Given the description of an element on the screen output the (x, y) to click on. 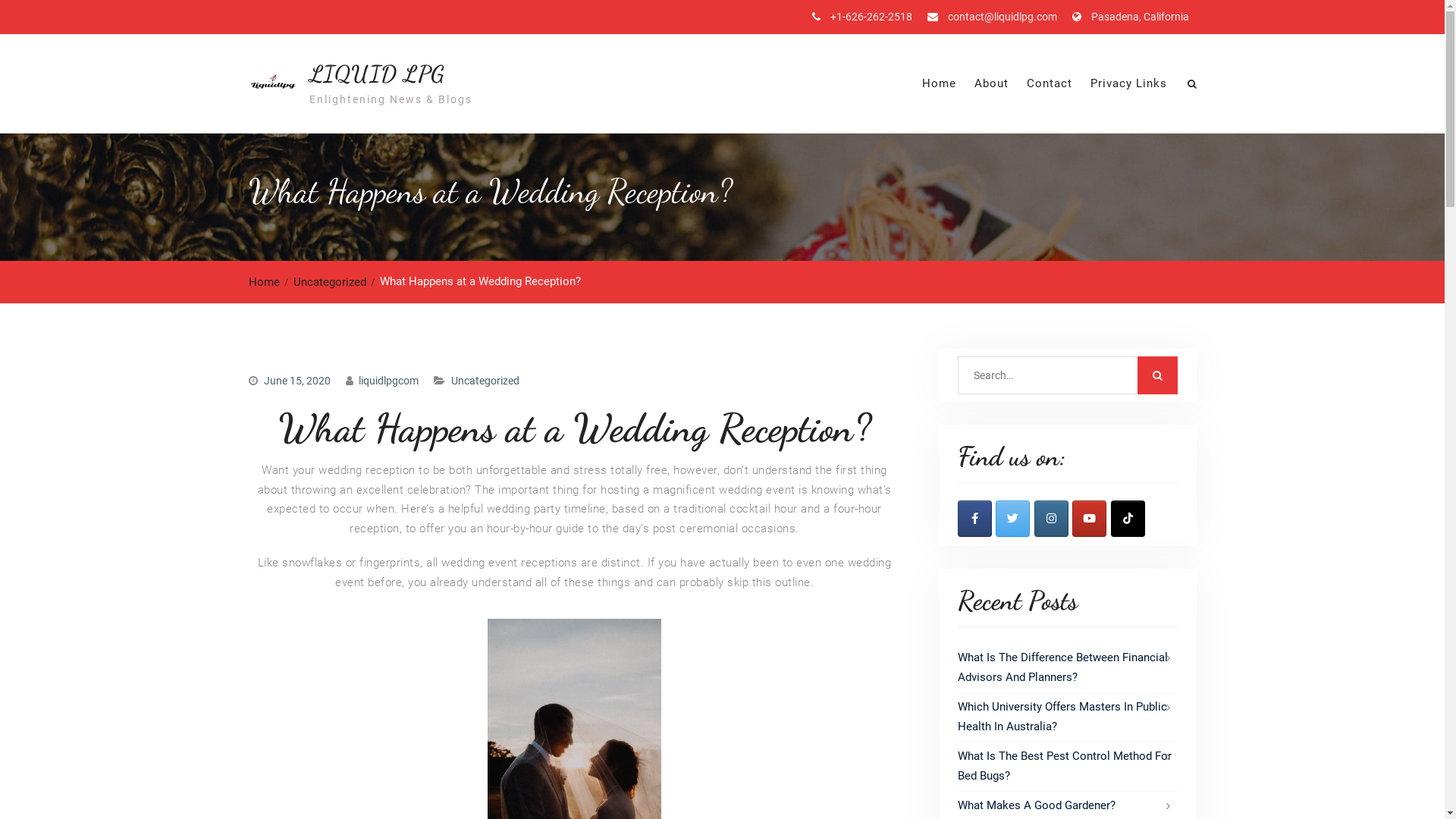
About Element type: text (990, 83)
What Is The Best Pest Control Method For Bed Bugs? Element type: text (1063, 765)
Home Element type: text (268, 281)
contact@liquidlpg.com Element type: text (1002, 16)
Liquid LPG on Youtube Element type: hover (1089, 518)
Uncategorized Element type: text (484, 380)
Uncategorized Element type: text (333, 281)
Search for: Element type: hover (1066, 375)
Liquid LPG on Instagram Element type: hover (1051, 518)
Privacy Links Element type: text (1128, 83)
June 15, 2020 Element type: text (296, 380)
Home Element type: text (939, 83)
Liquid LPG on Tiktok Element type: hover (1127, 518)
Liquid LPG on Twitter Element type: hover (1012, 518)
liquidlpgcom Element type: text (387, 380)
What Makes A Good Gardener? Element type: text (1035, 805)
Liquid LPG on Facebook Element type: hover (974, 518)
Contact Element type: text (1049, 83)
+1-626-262-2518 Element type: text (870, 16)
LIQUID LPG Element type: text (377, 72)
